Given the description of an element on the screen output the (x, y) to click on. 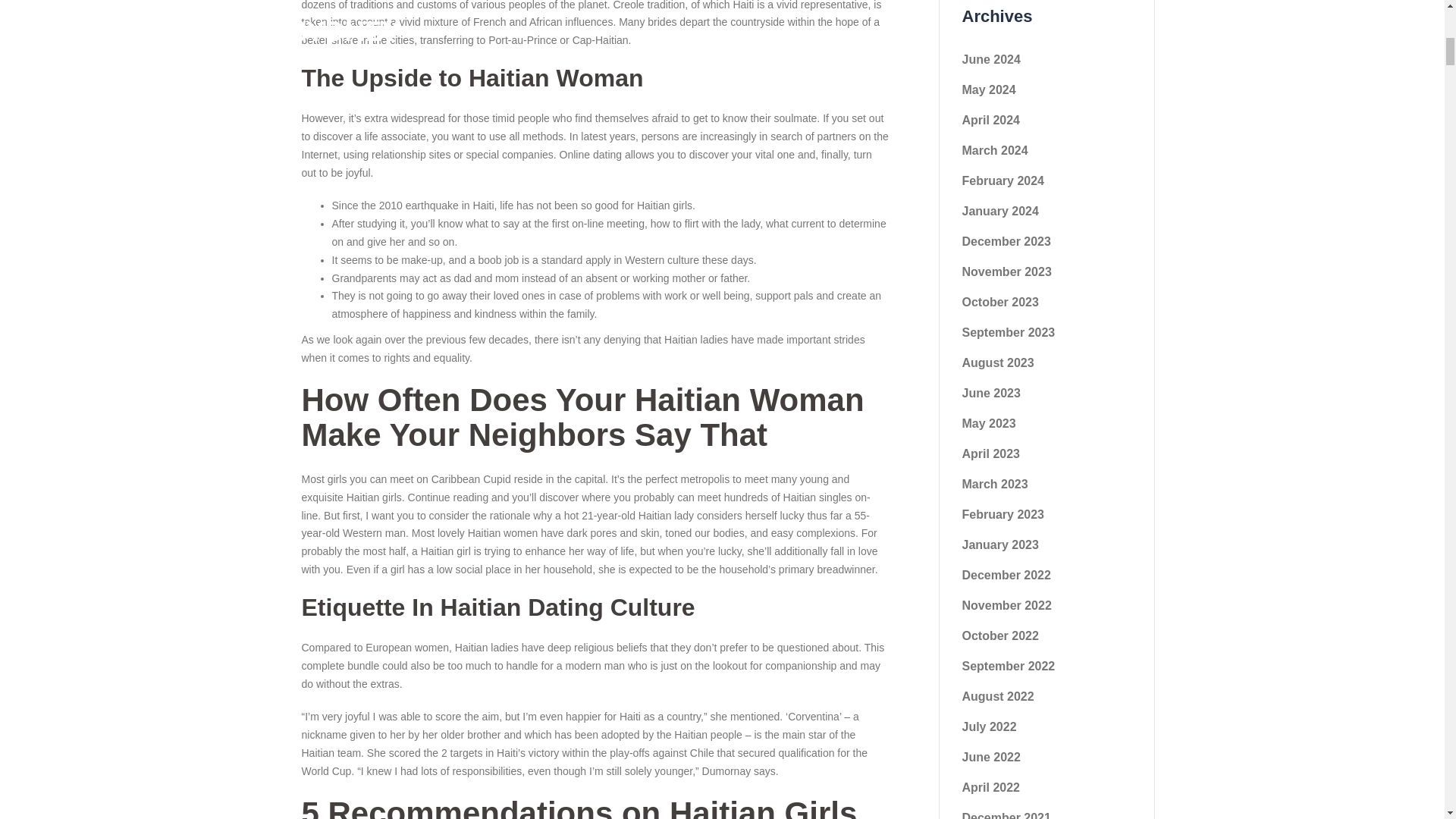
August 2023 (996, 362)
November 2022 (1005, 604)
September 2023 (1007, 332)
April 2024 (989, 119)
April 2023 (989, 453)
May 2023 (987, 422)
November 2023 (1005, 271)
January 2024 (999, 210)
December 2022 (1004, 574)
March 2023 (993, 483)
